Given the description of an element on the screen output the (x, y) to click on. 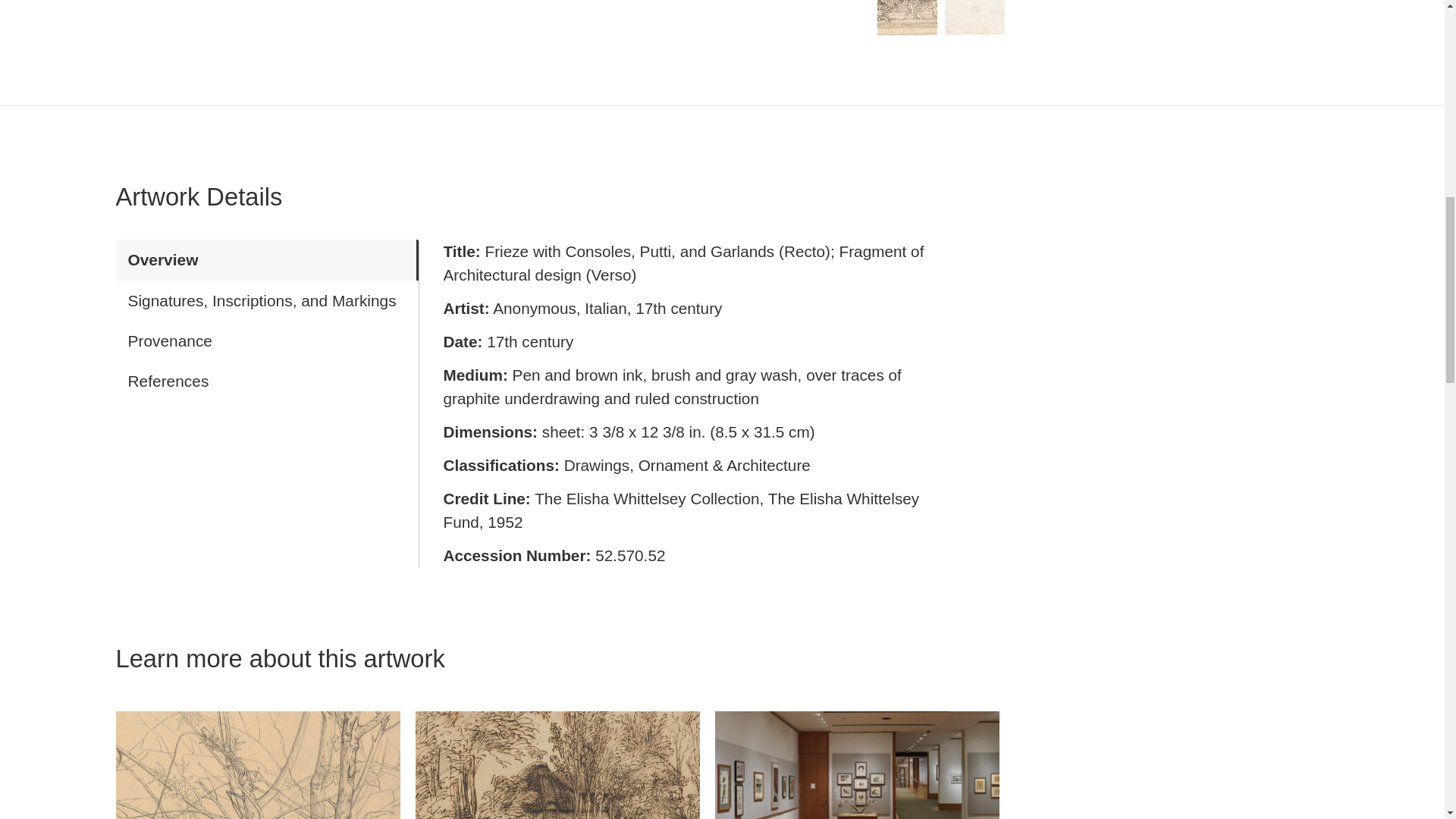
Recto (907, 18)
Verso (974, 18)
